Given the description of an element on the screen output the (x, y) to click on. 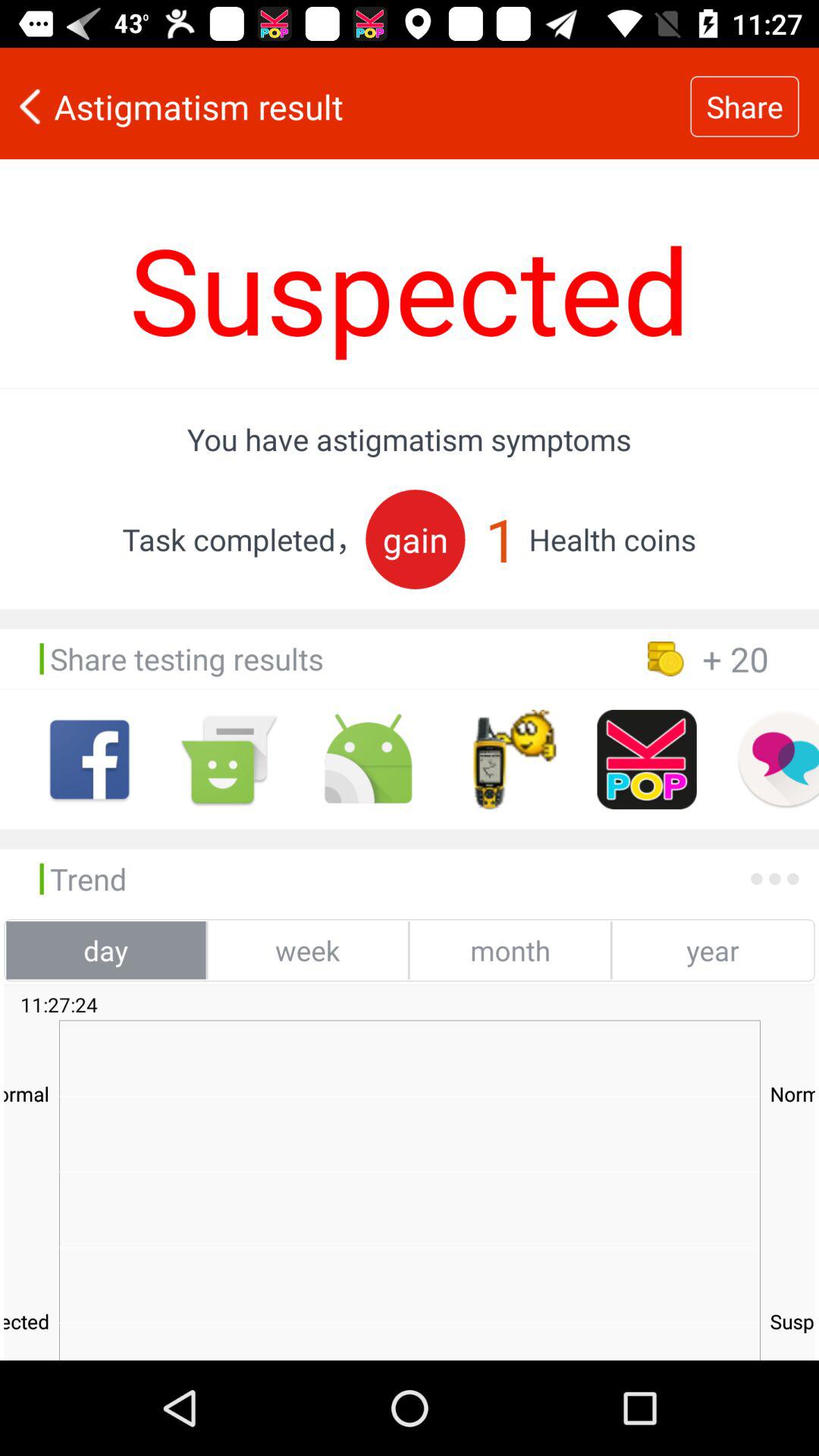
share to kpop (646, 759)
